Given the description of an element on the screen output the (x, y) to click on. 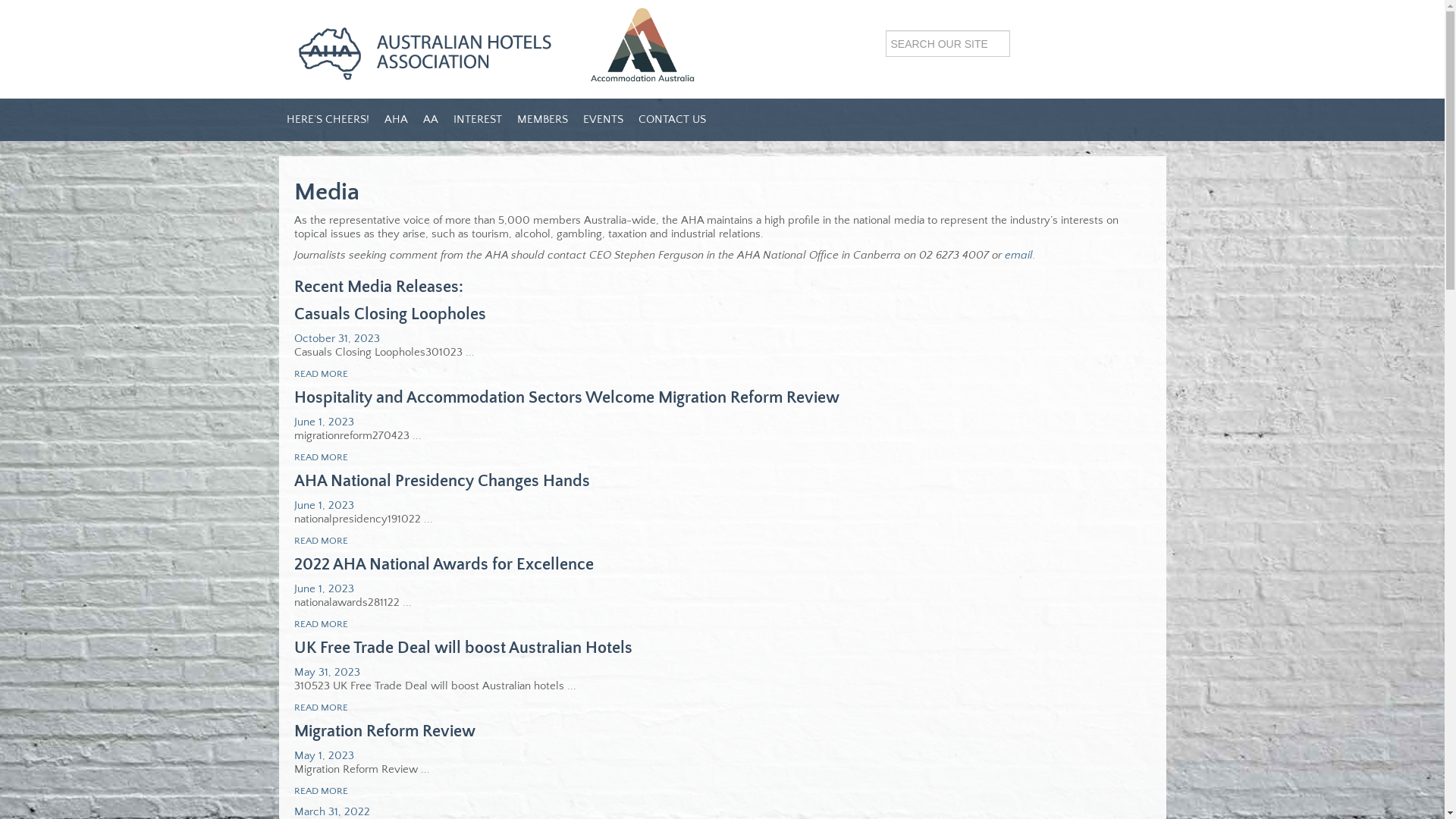
2022 AHA National Awards for Excellence Element type: text (443, 564)
AHA Element type: text (395, 119)
AHA National Presidency Changes Hands Element type: text (441, 480)
CONTACT US Element type: text (671, 119)
READ MORE Element type: text (321, 456)
March 31, 2022 Element type: text (332, 811)
READ MORE Element type: text (321, 707)
READ MORE Element type: text (321, 540)
MEMBERS Element type: text (542, 119)
READ MORE Element type: text (321, 790)
Migration Reform Review Element type: text (384, 730)
READ MORE Element type: text (321, 373)
AA Element type: text (430, 119)
email Element type: text (1018, 254)
INTEREST Element type: text (477, 119)
May 1, 2023 Element type: text (324, 755)
June 1, 2023 Element type: text (324, 504)
May 31, 2023 Element type: text (327, 671)
June 1, 2023 Element type: text (324, 588)
READ MORE Element type: text (321, 623)
EVENTS Element type: text (602, 119)
October 31, 2023 Element type: text (336, 338)
Casuals Closing Loopholes Element type: text (390, 313)
June 1, 2023 Element type: text (324, 421)
UK Free Trade Deal will boost Australian Hotels Element type: text (463, 647)
